Given the description of an element on the screen output the (x, y) to click on. 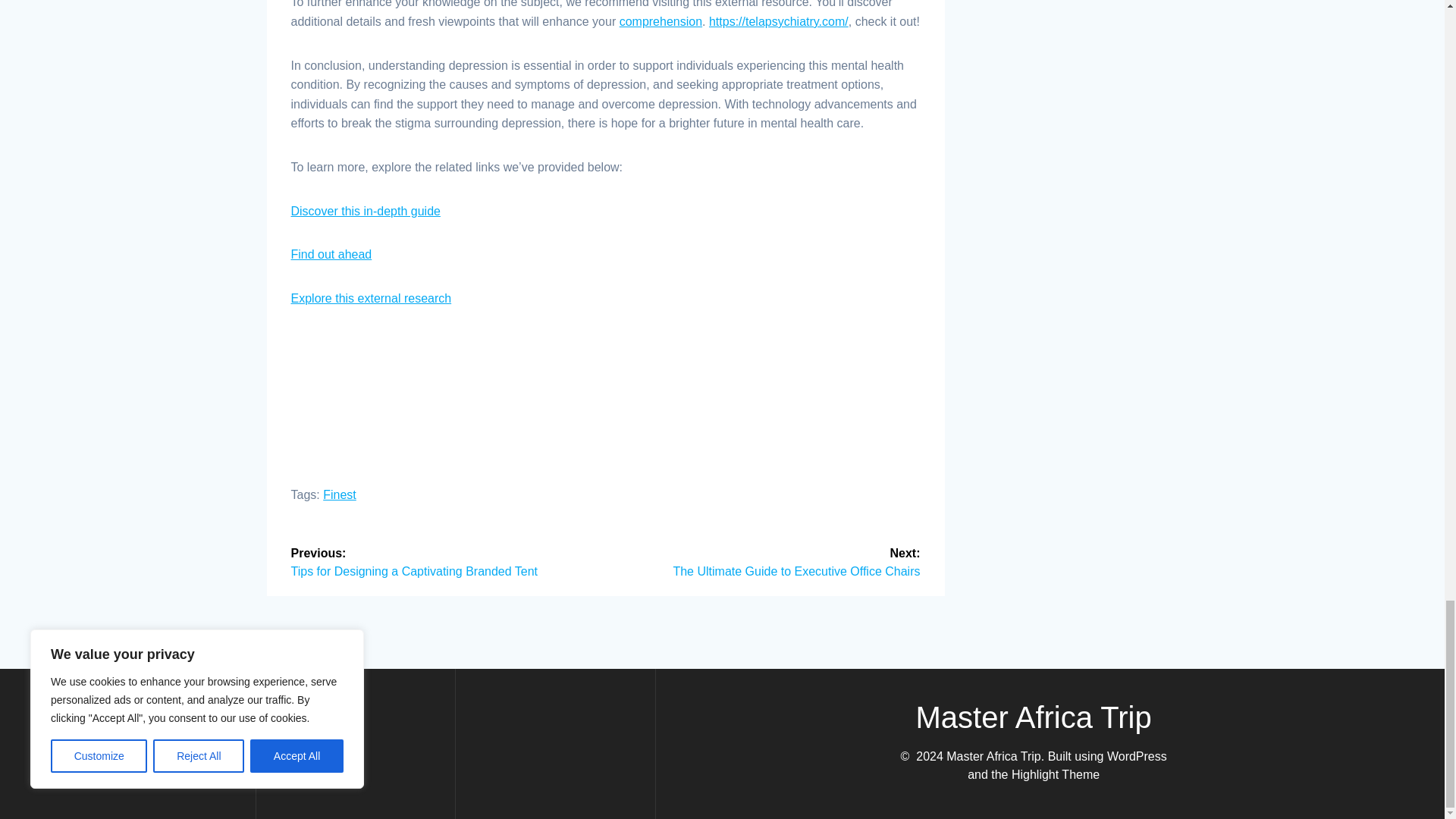
comprehension (660, 21)
Finest (339, 494)
Discover this in-depth guide (366, 210)
Explore this external research (371, 297)
Find out ahead (331, 254)
